Given the description of an element on the screen output the (x, y) to click on. 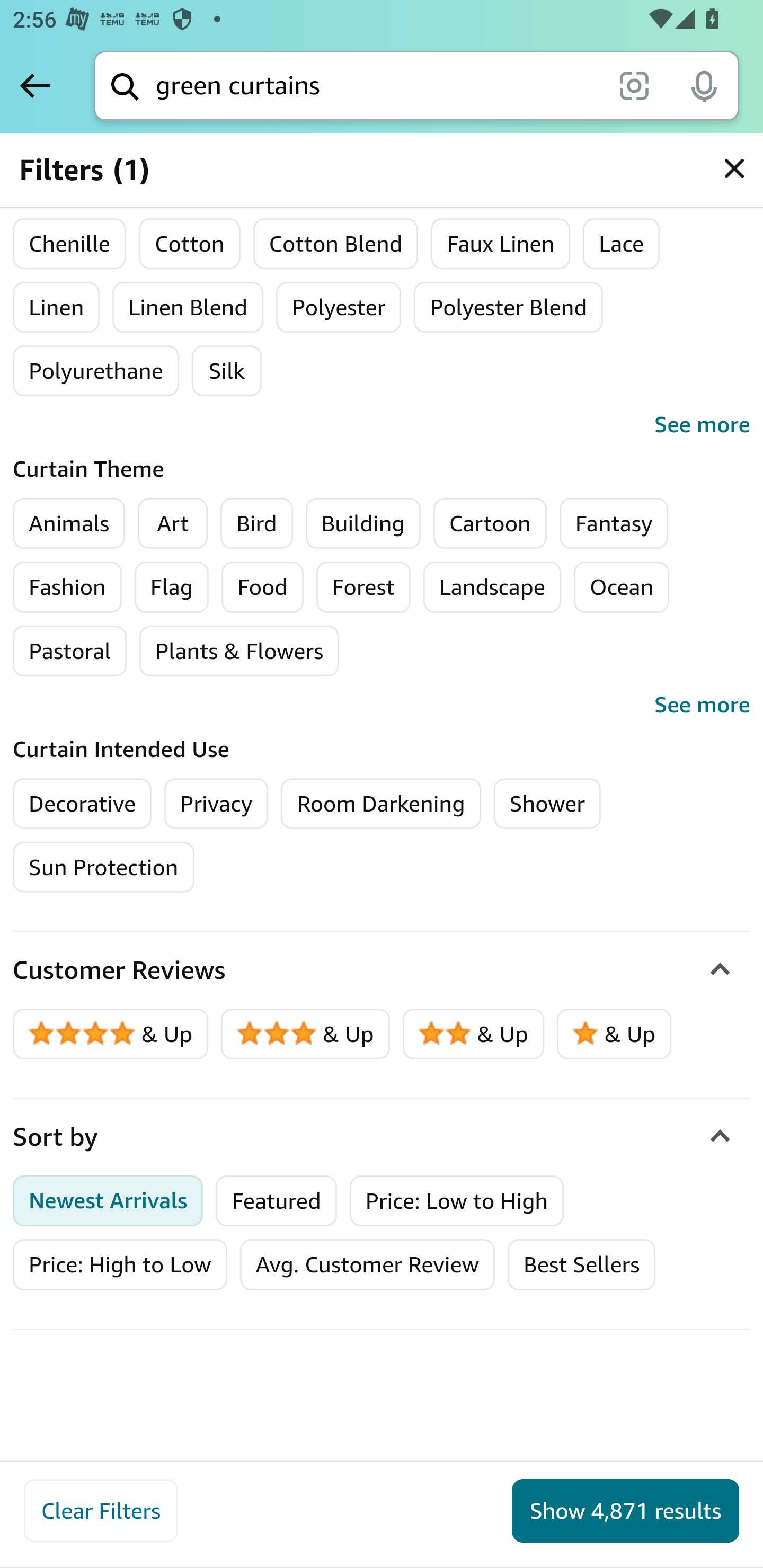
Back (35, 85)
scan it (633, 85)
Chenille (69, 243)
Cotton (189, 243)
Cotton Blend (335, 243)
Faux Linen (500, 243)
Lace (621, 243)
Linen (55, 306)
Linen Blend (187, 306)
Polyester (338, 306)
Polyester Blend (508, 306)
Polyurethane (95, 370)
Silk (226, 370)
See more, Curtain Material See more (381, 424)
Animals (68, 523)
Art (172, 523)
Bird (256, 523)
Building (363, 523)
Cartoon (489, 523)
Fantasy (613, 523)
Fashion (67, 587)
Flag (171, 587)
Food (263, 587)
Forest (364, 587)
Landscape (492, 587)
Ocean (621, 587)
Pastoral (69, 650)
Plants & Flowers (239, 650)
See more, Curtain Theme See more (381, 704)
Decorative (82, 803)
Privacy (216, 803)
Room Darkening (380, 803)
Shower (546, 803)
Sun Protection (103, 866)
Customer Reviews (381, 970)
4 Stars & Up (110, 1033)
3 Stars & Up (305, 1033)
2 Stars & Up (473, 1033)
1 Star & Up (614, 1033)
Sort by (381, 1136)
Featured (275, 1200)
Price: Low to High (455, 1200)
Price: High to Low (119, 1264)
Avg. Customer Review (366, 1264)
Best Sellers (581, 1264)
Clear Filters (100, 1510)
Show 4,871 results (625, 1510)
